Given the description of an element on the screen output the (x, y) to click on. 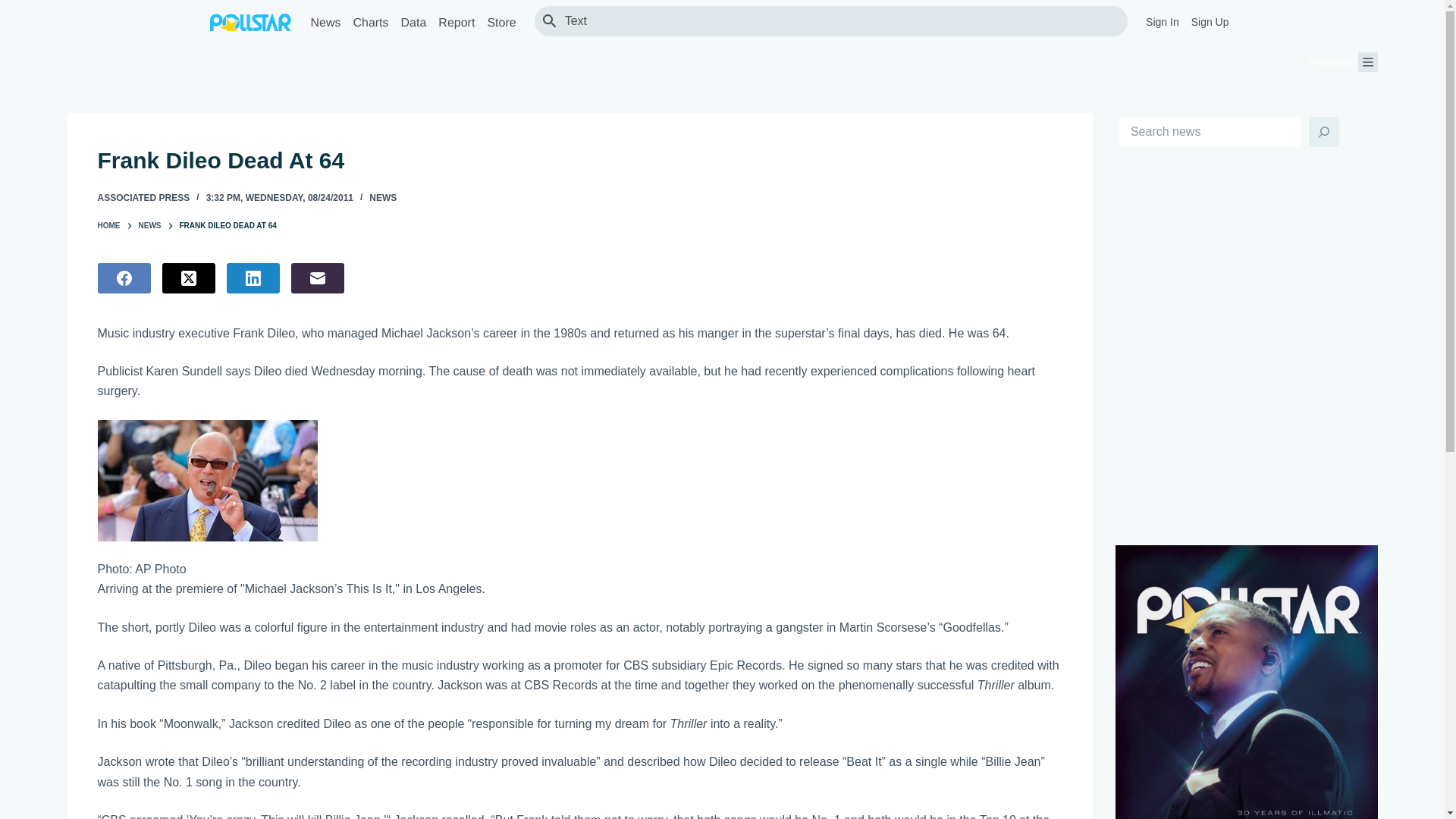
Text (838, 20)
Frank Dileo Dead At 64 (579, 160)
Text (838, 20)
Skip to content (15, 7)
Posts by Associated Press (143, 197)
